Given the description of an element on the screen output the (x, y) to click on. 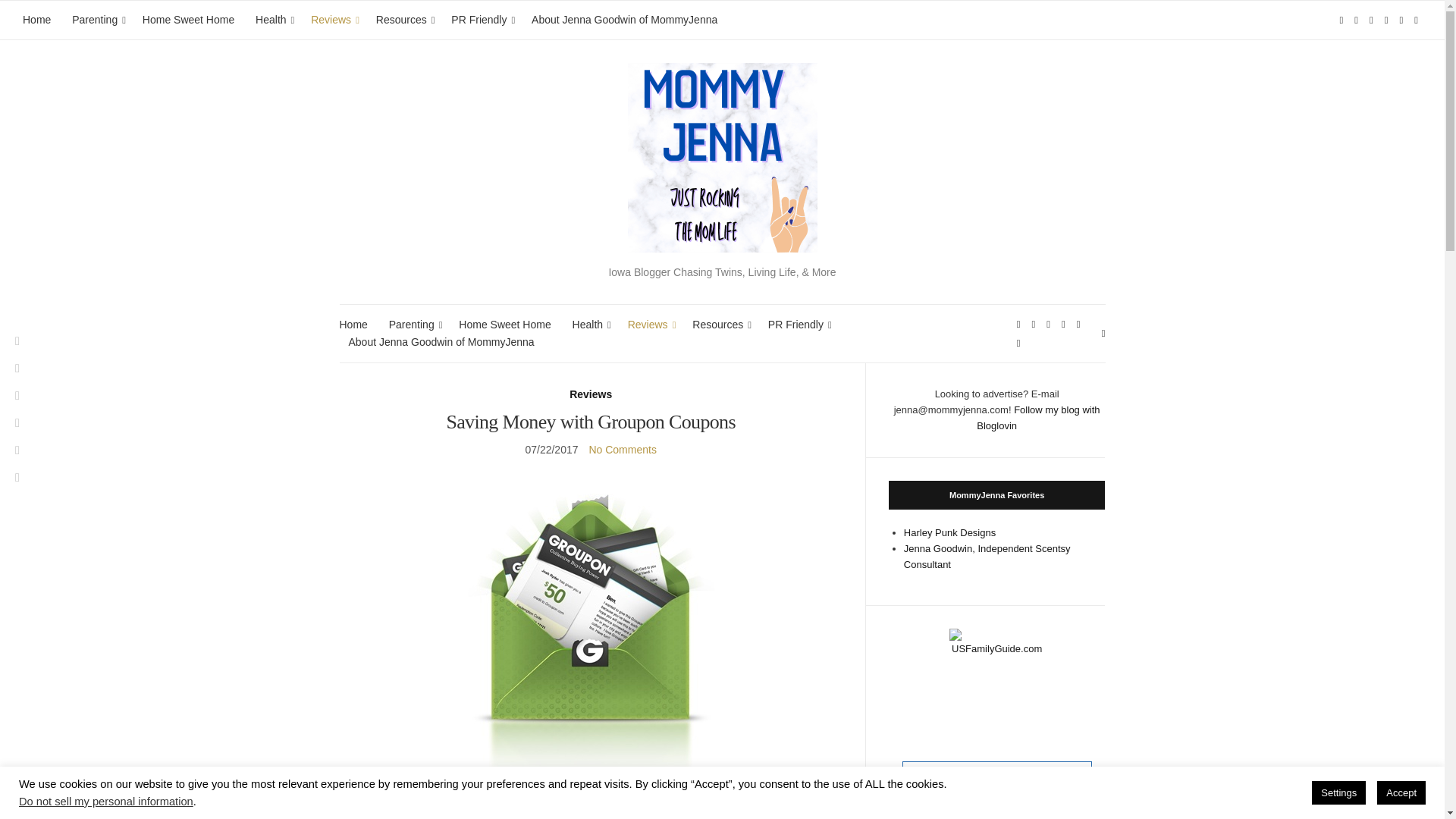
Health (272, 19)
Home (36, 19)
Home Fragrance, Decor, Gifts and more. (987, 556)
Home Sweet Home (504, 324)
Reviews (333, 19)
PR Friendly (481, 19)
Home Sweet Home (188, 19)
Saving Money with Groupon Coupons 2 (435, 817)
Resources (402, 19)
Parenting (413, 324)
